Given the description of an element on the screen output the (x, y) to click on. 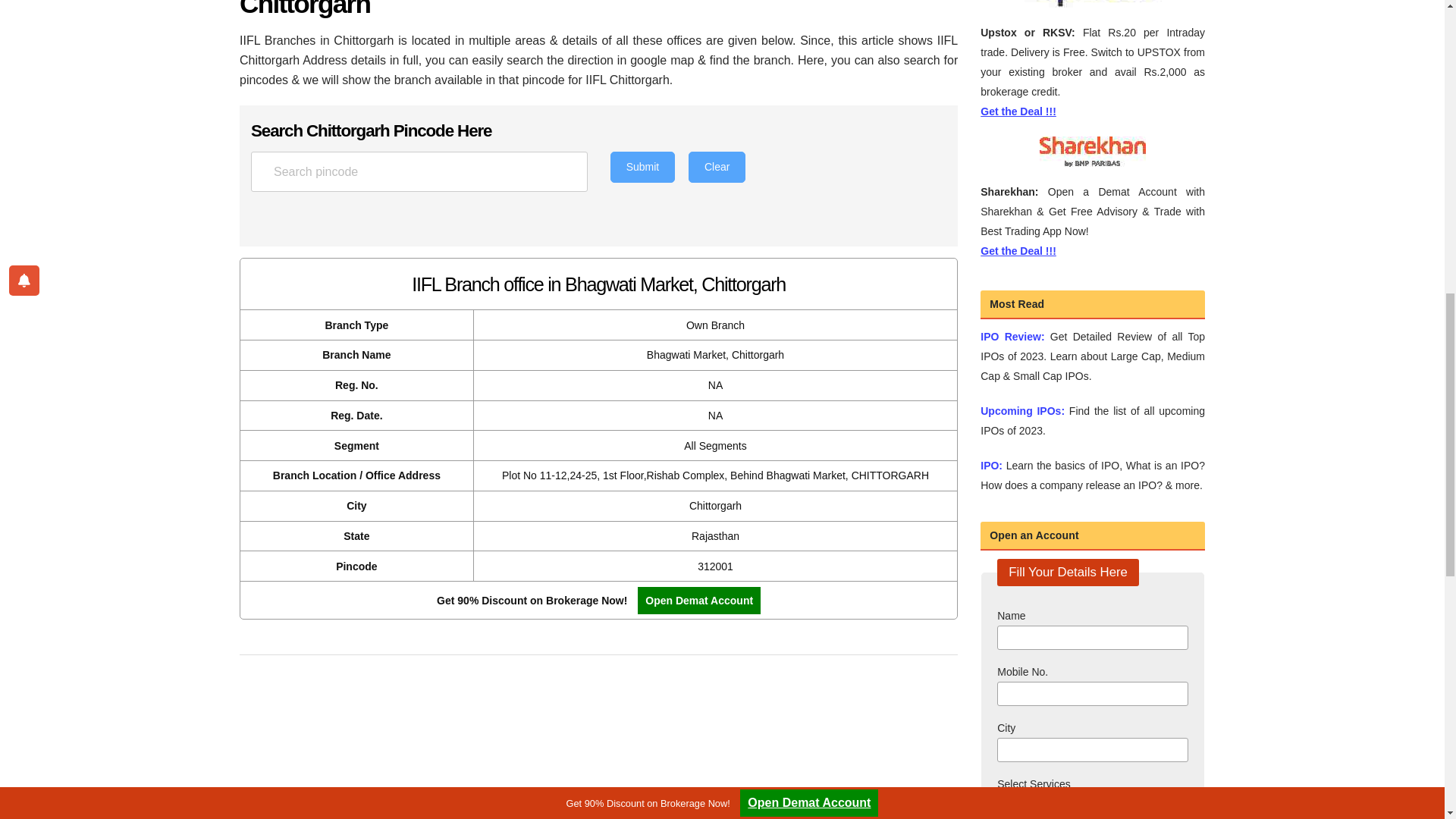
Open Demat Account (1014, 807)
